Given the description of an element on the screen output the (x, y) to click on. 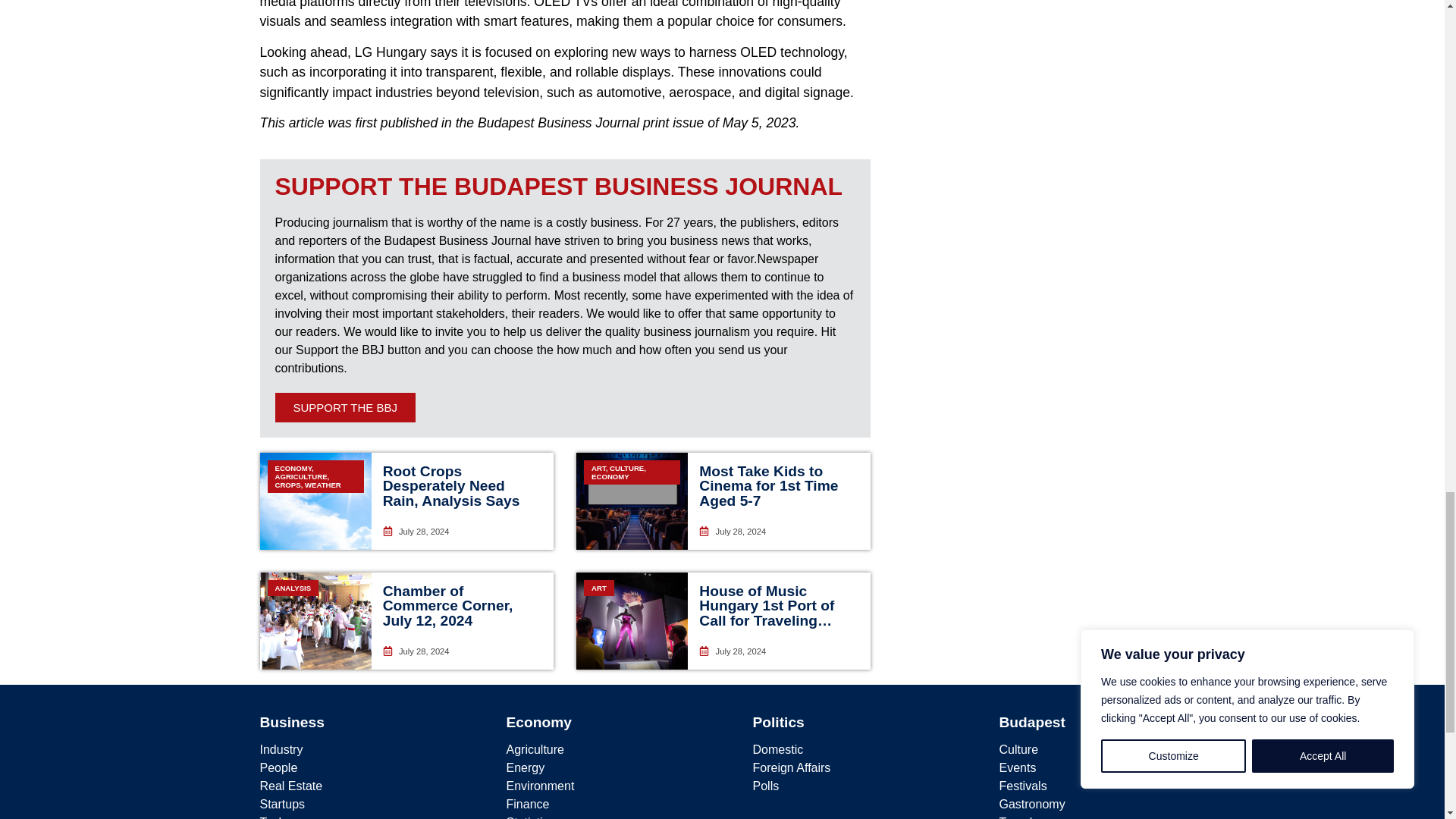
ART, CULTURE, ECONOMY (631, 500)
Root Crops Desperately Need Rain, Analysis Says (450, 485)
ANALYSIS (315, 620)
SUPPORT THE BBJ (344, 407)
Chamber of Commerce Corner, July 12, 2024 (447, 605)
ART (631, 620)
Most Take Kids to Cinema for 1st Time Aged 5-7 (768, 485)
ECONOMY, AGRICULTURE, CROPS, WEATHER (315, 500)
